Given the description of an element on the screen output the (x, y) to click on. 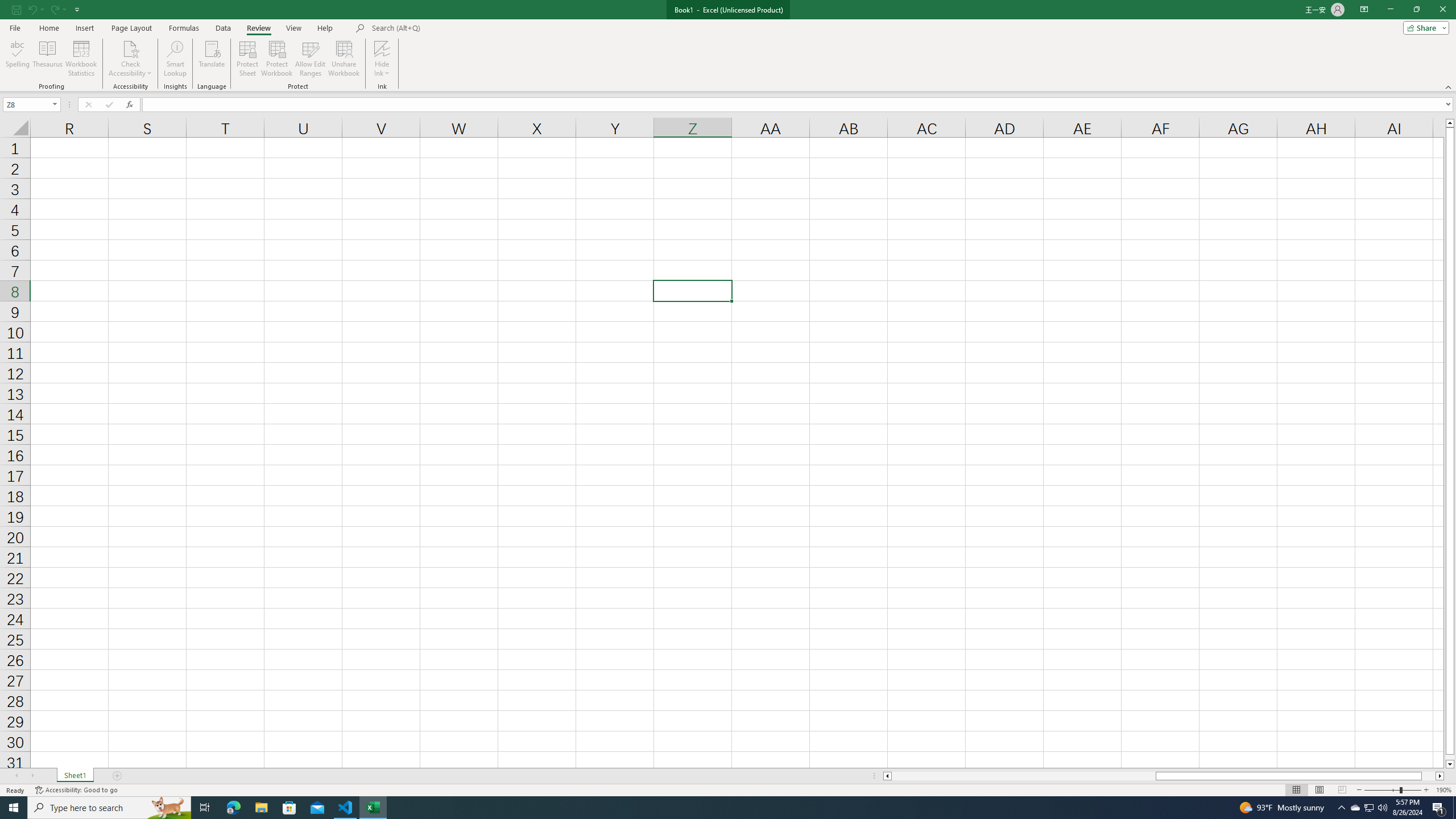
Insert (83, 28)
Check Accessibility (129, 48)
Page Layout (1318, 790)
Translate (211, 58)
Redo (57, 9)
Protect Workbook... (277, 58)
